Given the description of an element on the screen output the (x, y) to click on. 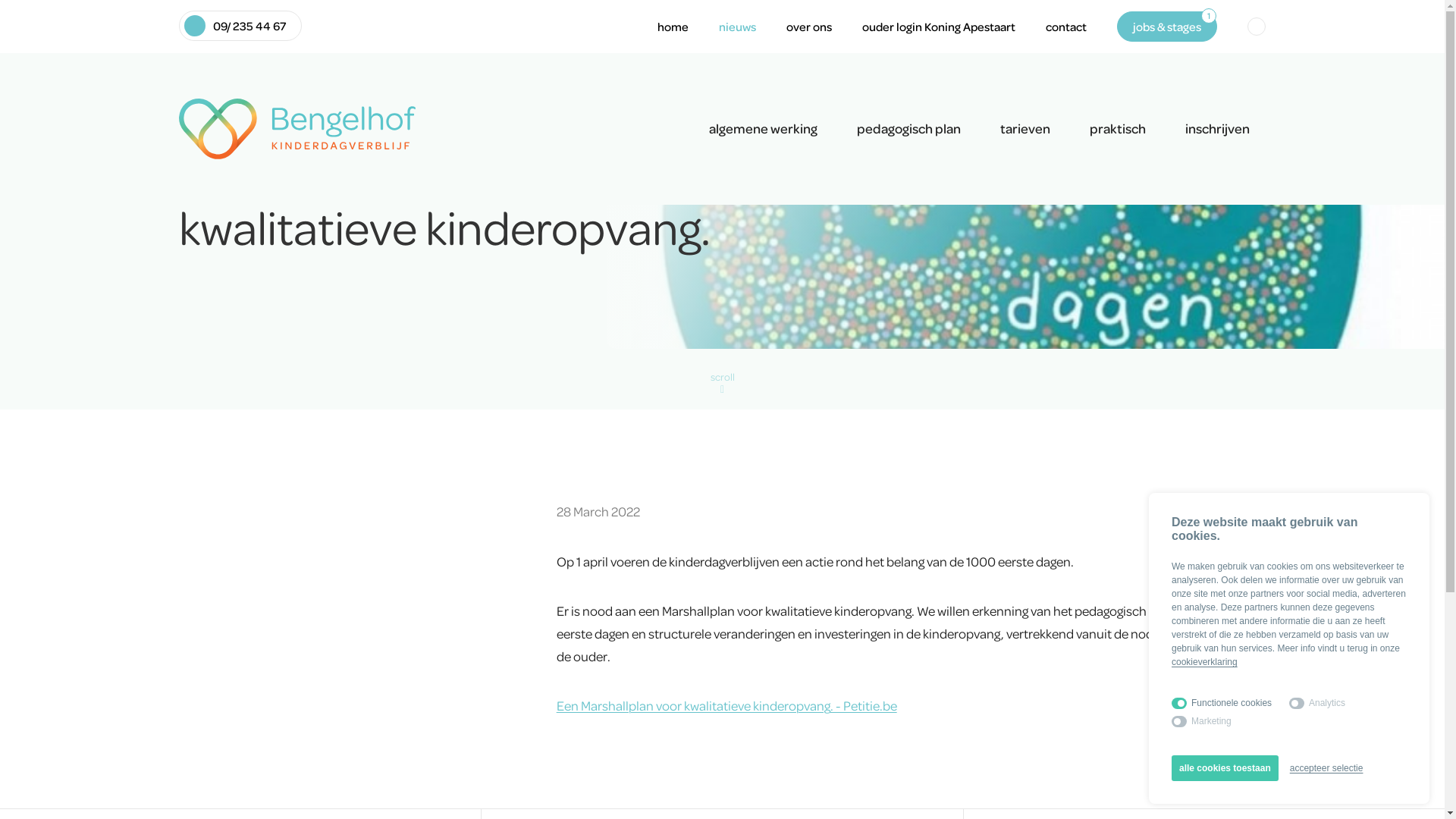
09/ 235 44 67 Element type: text (239, 25)
alle cookies toestaan Element type: text (1224, 768)
home Element type: text (672, 26)
tarieven Element type: text (1025, 128)
nieuws Element type: text (737, 26)
algemene werking Element type: text (763, 128)
cookieverklaring Element type: text (1204, 661)
praktisch Element type: text (1117, 128)
pedagogisch plan Element type: text (908, 128)
over ons Element type: text (808, 26)
jobs & stages Element type: text (1167, 26)
inschrijven Element type: text (1217, 128)
accepteer selectie Element type: text (1326, 768)
ouder login Koning Apestaart Element type: text (938, 26)
contact Element type: text (1065, 26)
